Given the description of an element on the screen output the (x, y) to click on. 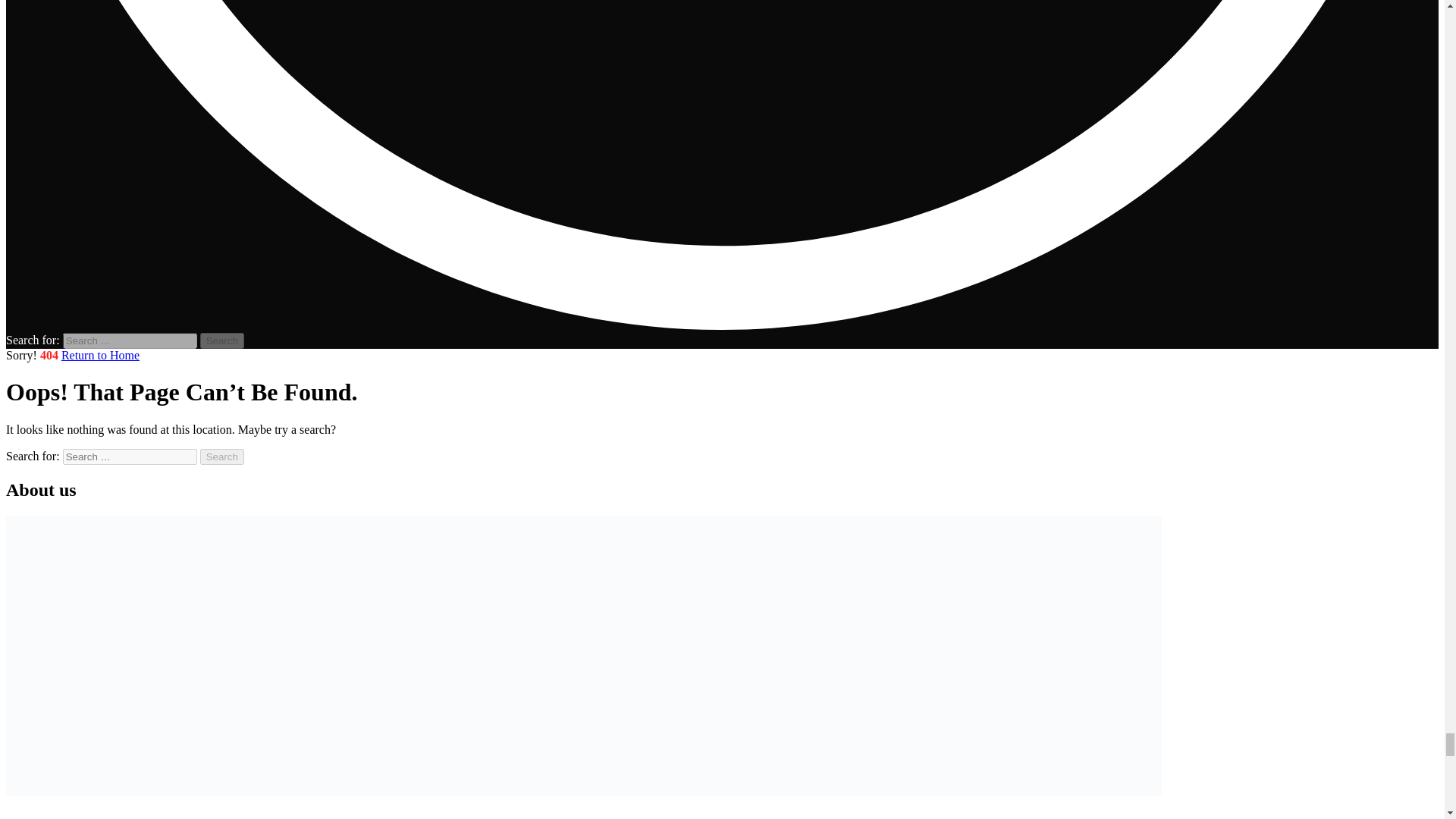
Search (222, 340)
Search (222, 340)
Search (222, 456)
Search (222, 456)
